Given the description of an element on the screen output the (x, y) to click on. 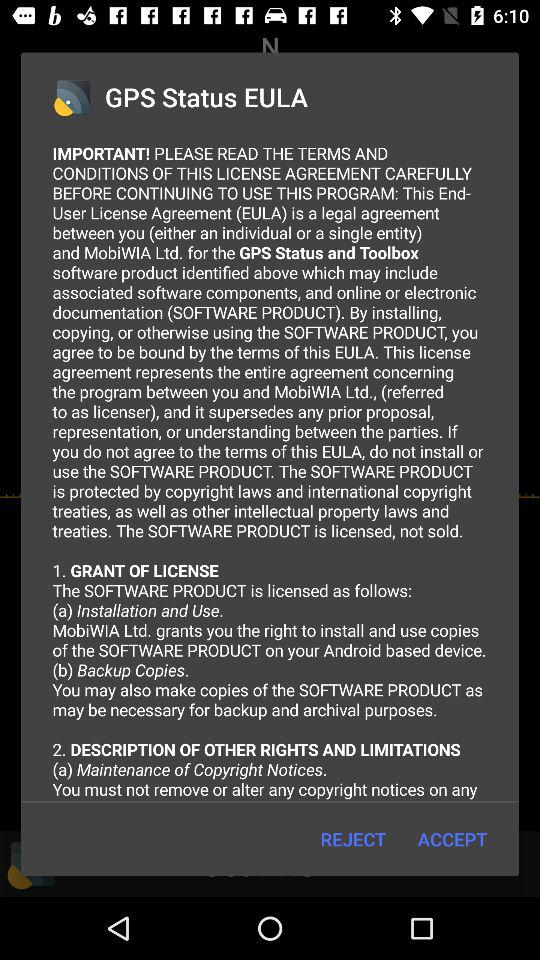
select item next to reject item (452, 838)
